Given the description of an element on the screen output the (x, y) to click on. 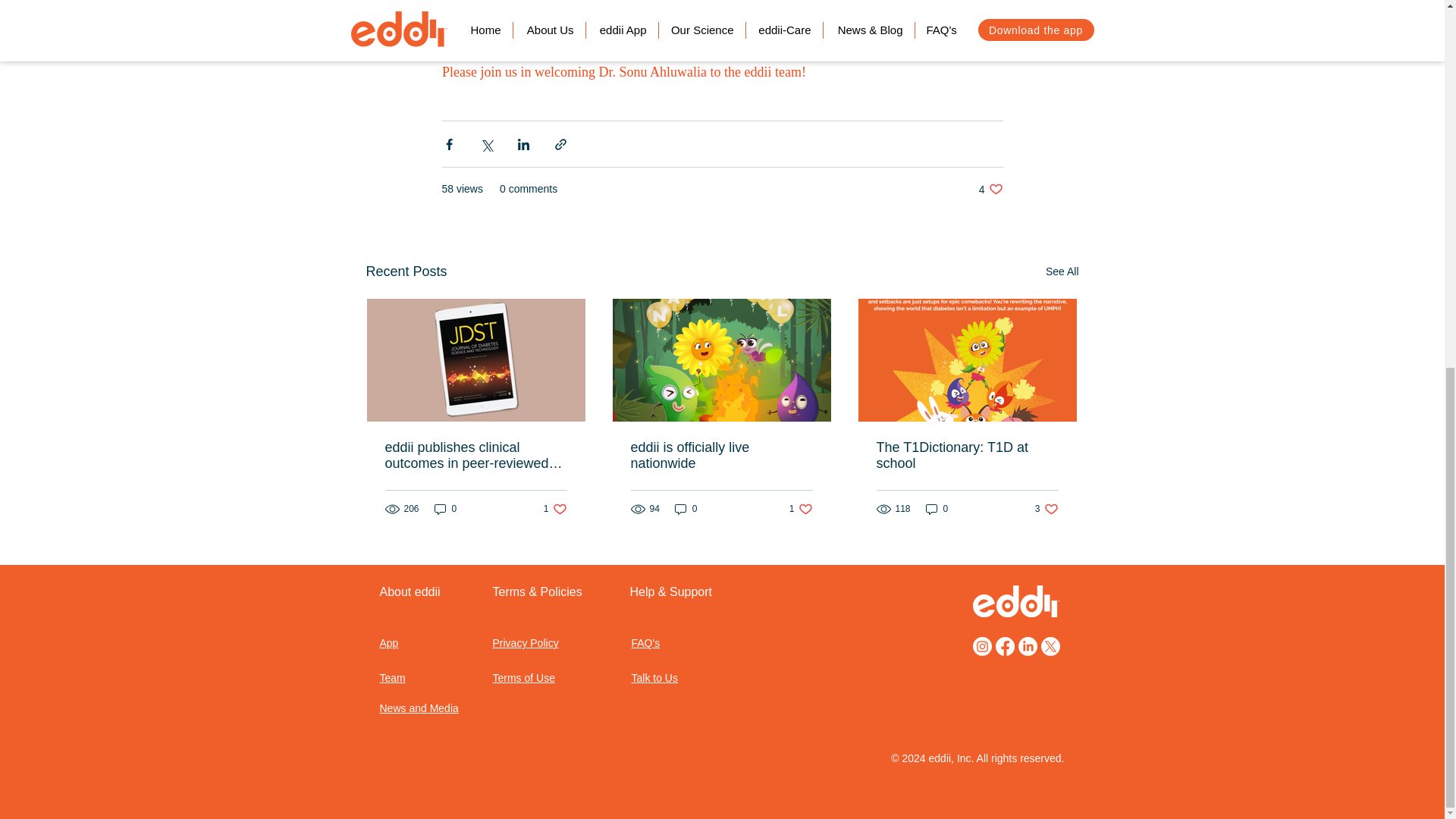
App (555, 509)
0 (387, 643)
Talk to Us (445, 509)
0 (653, 677)
The T1Dictionary: T1D at school (685, 509)
eddii is officially live nationwide (967, 455)
Terms of Use (721, 455)
Privacy Policy (523, 677)
